Given the description of an element on the screen output the (x, y) to click on. 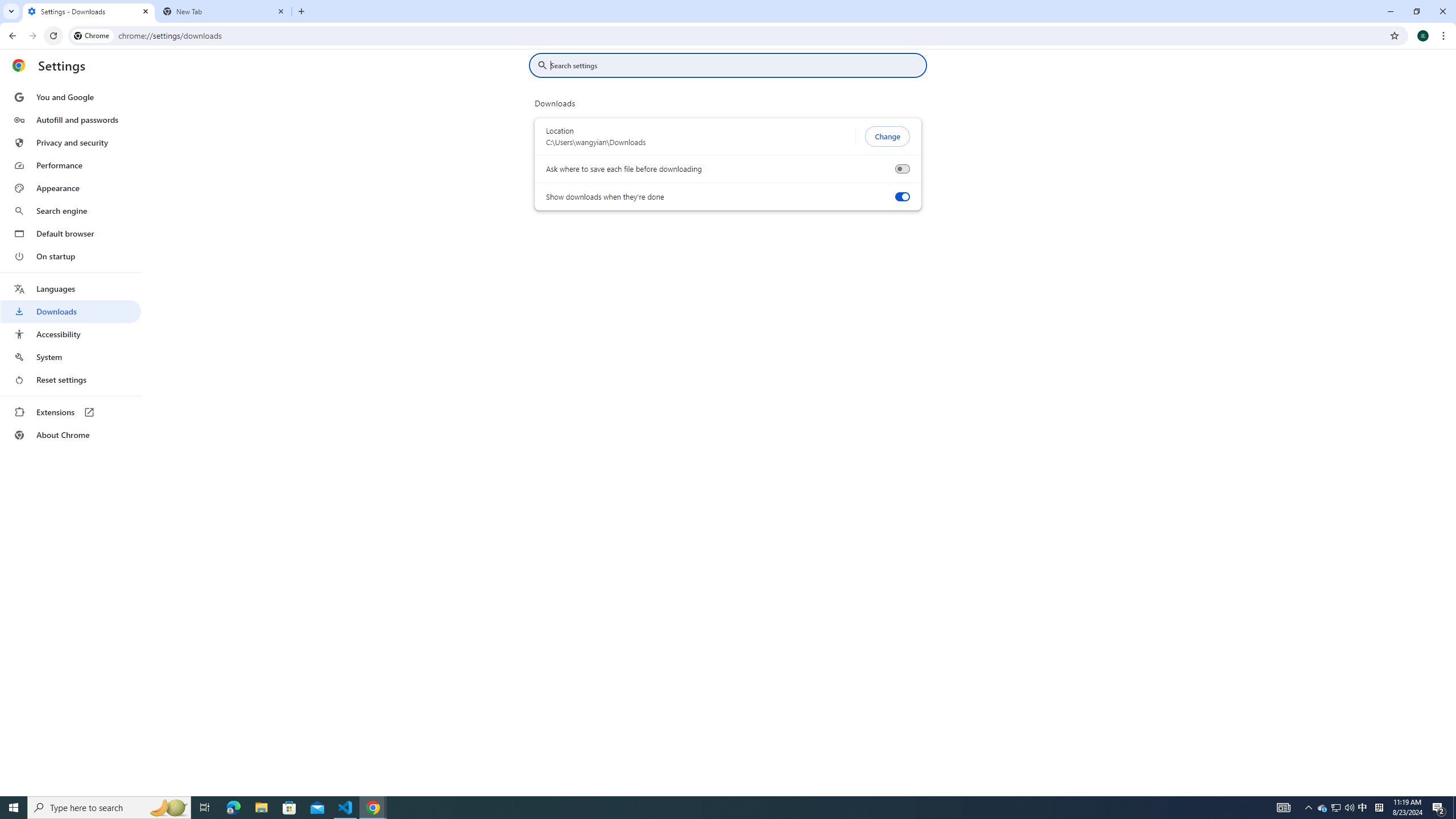
Performance (70, 164)
Search engine (70, 210)
Extensions (70, 412)
Languages (70, 288)
